Given the description of an element on the screen output the (x, y) to click on. 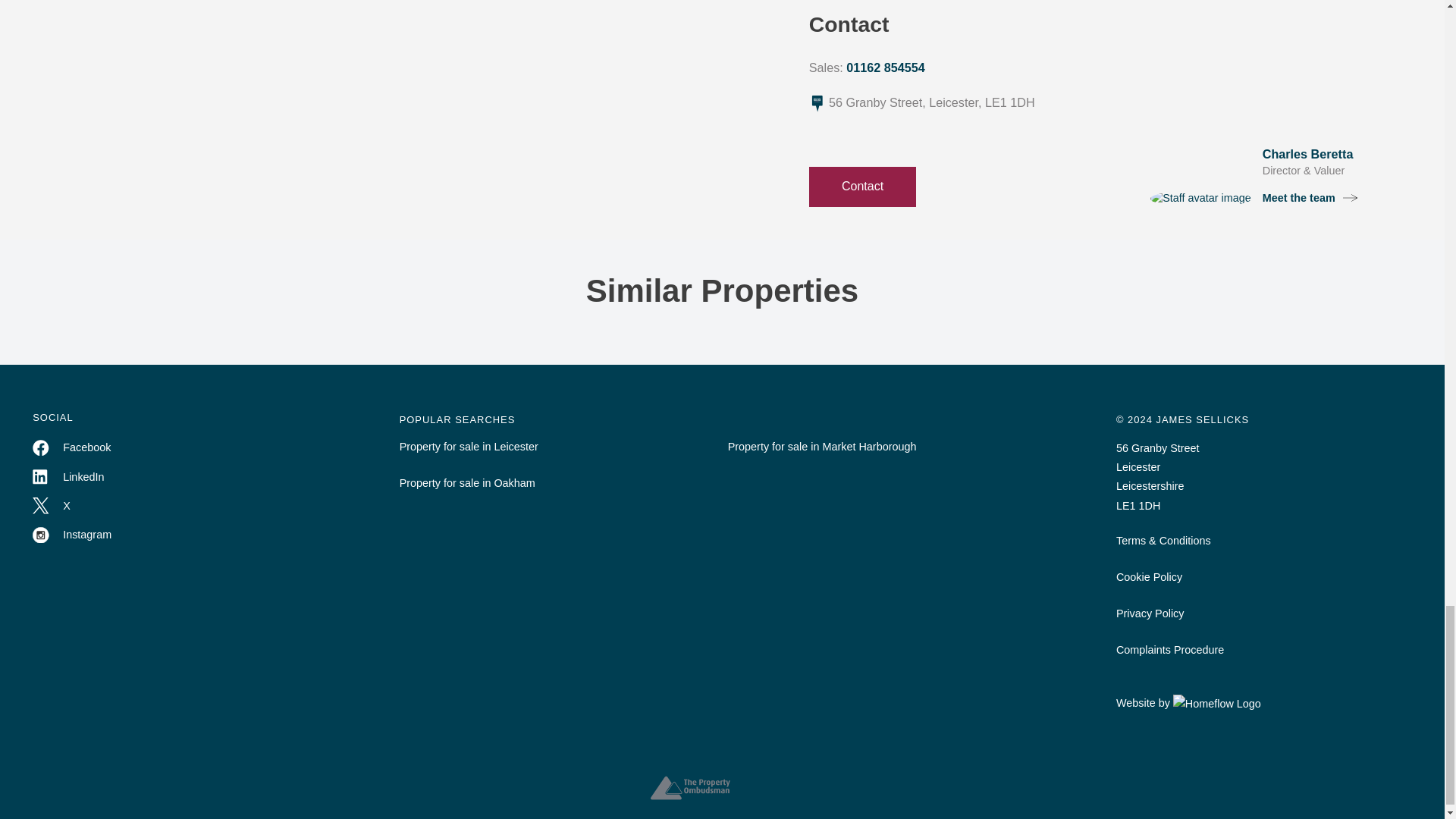
LinkedIn (67, 477)
Instagram (72, 536)
Property for sale in Oakham (557, 493)
Facebook (71, 448)
Cookie Policy (1264, 586)
Meet the team (1310, 198)
Contact (863, 187)
Property for sale in Leicester (557, 456)
01162 854554 (884, 67)
X icon (40, 505)
